Given the description of an element on the screen output the (x, y) to click on. 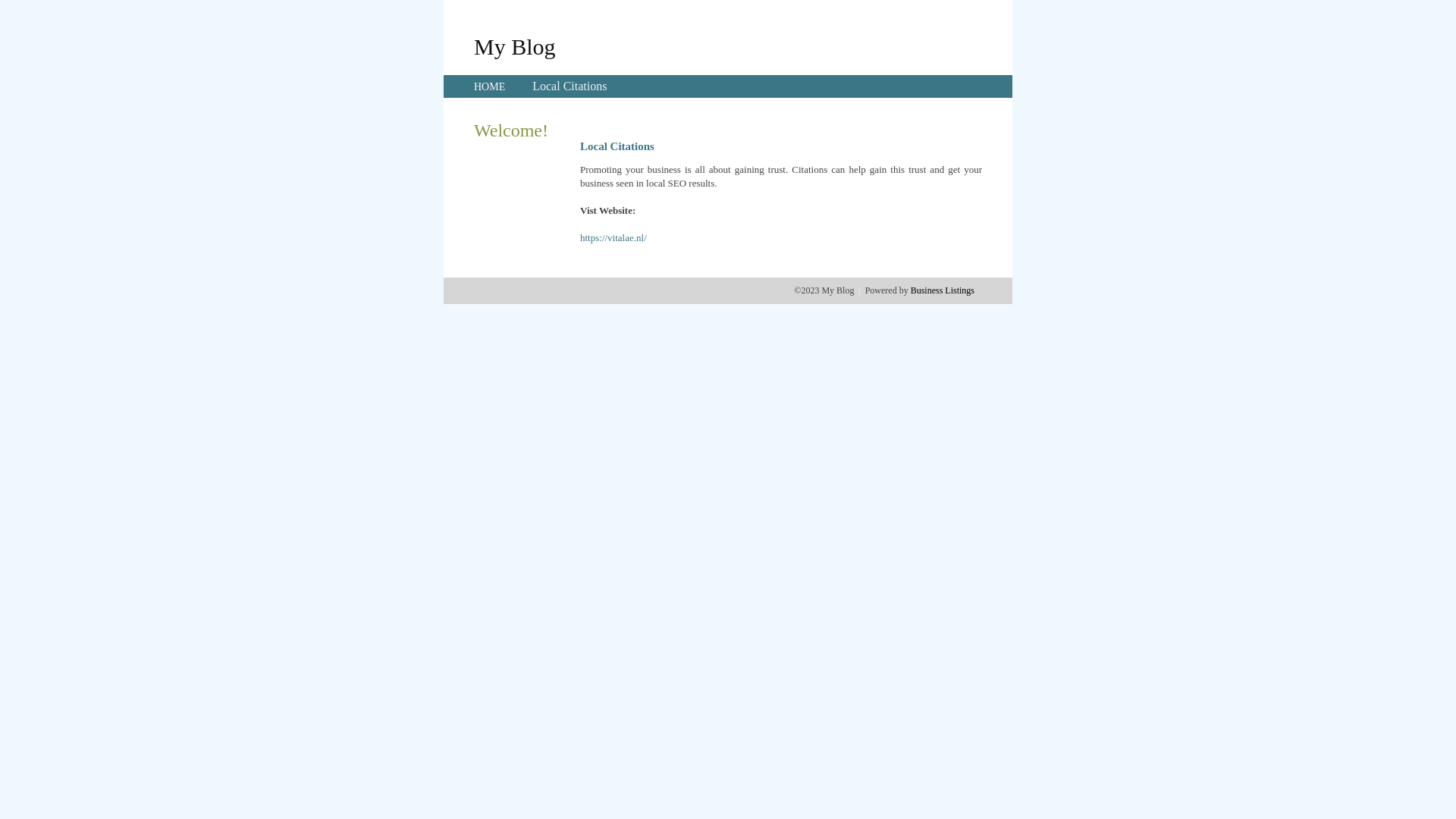
Local Citations Element type: text (569, 85)
My Blog Element type: text (514, 46)
HOME Element type: text (489, 86)
Business Listings Element type: text (942, 290)
https://vitalae.nl/ Element type: text (613, 237)
